Given the description of an element on the screen output the (x, y) to click on. 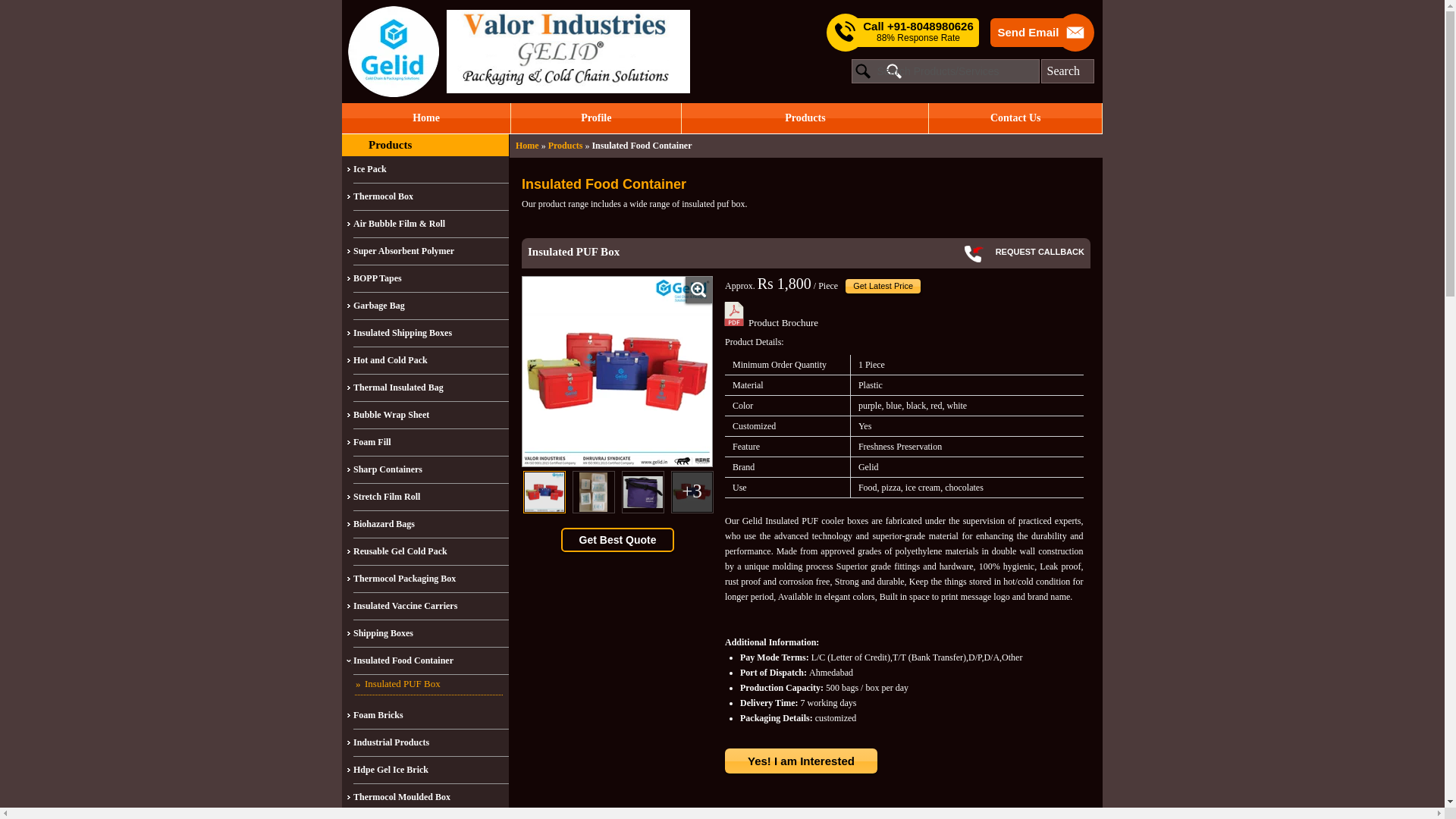
Products (804, 118)
Products (390, 144)
Thermocol Box (430, 196)
Home (526, 145)
Super Absorbent Polymer (430, 251)
Ice Pack (430, 169)
Profile (596, 118)
Garbage Bag (430, 306)
Home (426, 118)
Products (565, 145)
